Given the description of an element on the screen output the (x, y) to click on. 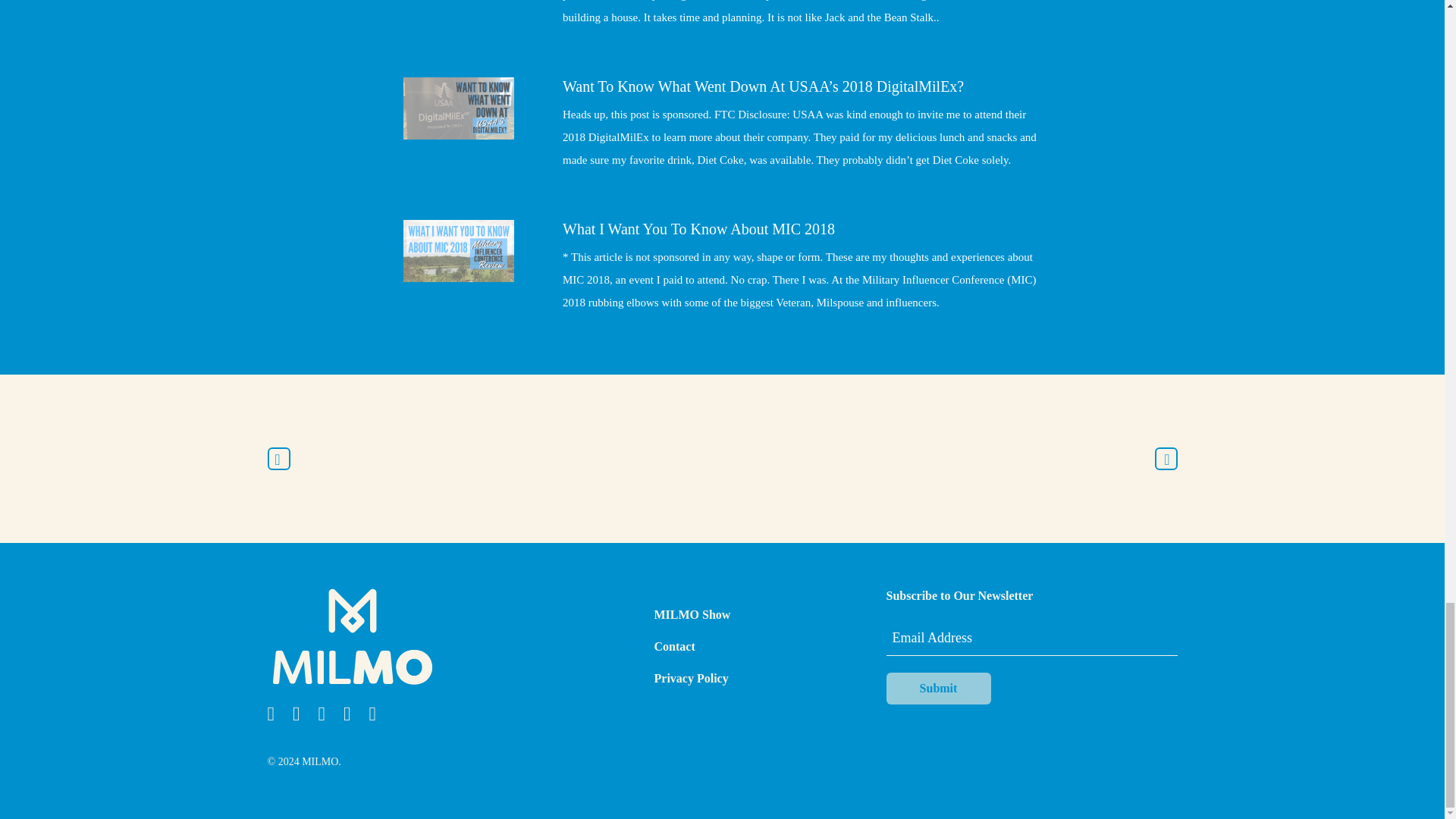
Submit (937, 688)
Submit (937, 688)
MILMO Show (691, 614)
Privacy Policy (690, 677)
Contact (673, 645)
7 Things To Know About Digit Savings (277, 458)
All You Need To Know About The BRS (1165, 458)
